Given the description of an element on the screen output the (x, y) to click on. 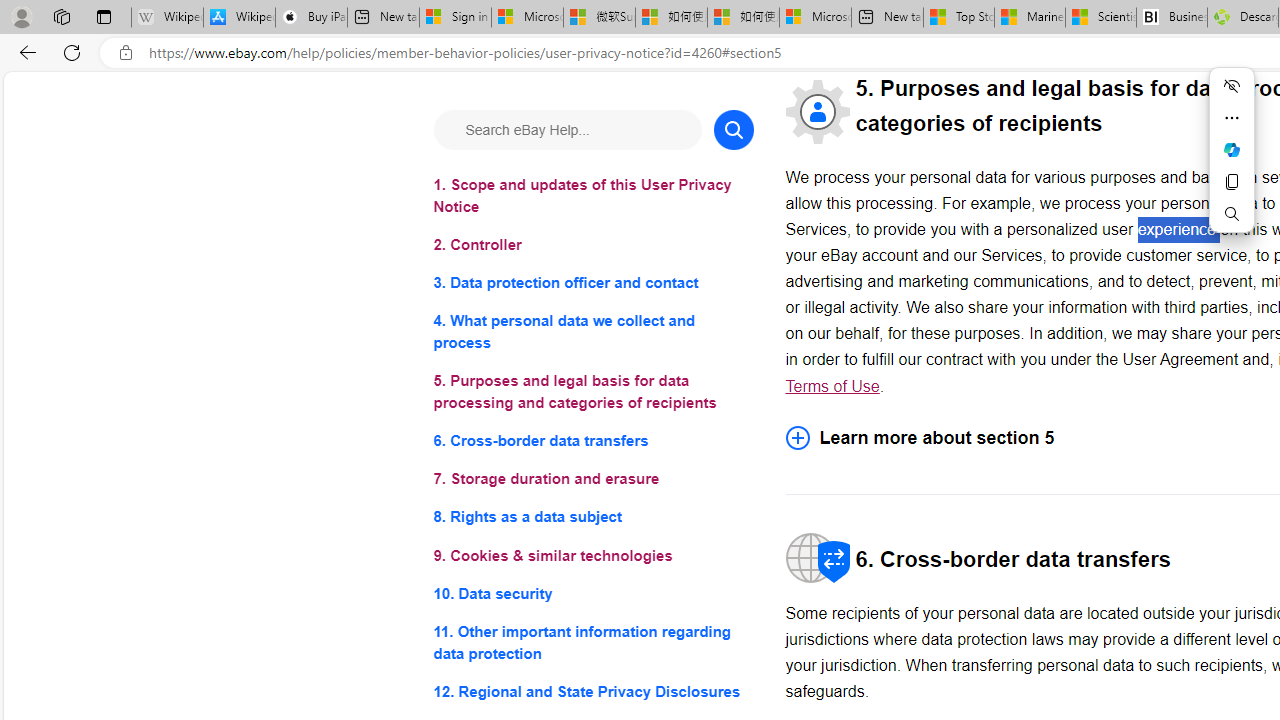
11. Other important information regarding data protection (592, 642)
7. Storage duration and erasure (592, 479)
2. Controller (592, 245)
